Given the description of an element on the screen output the (x, y) to click on. 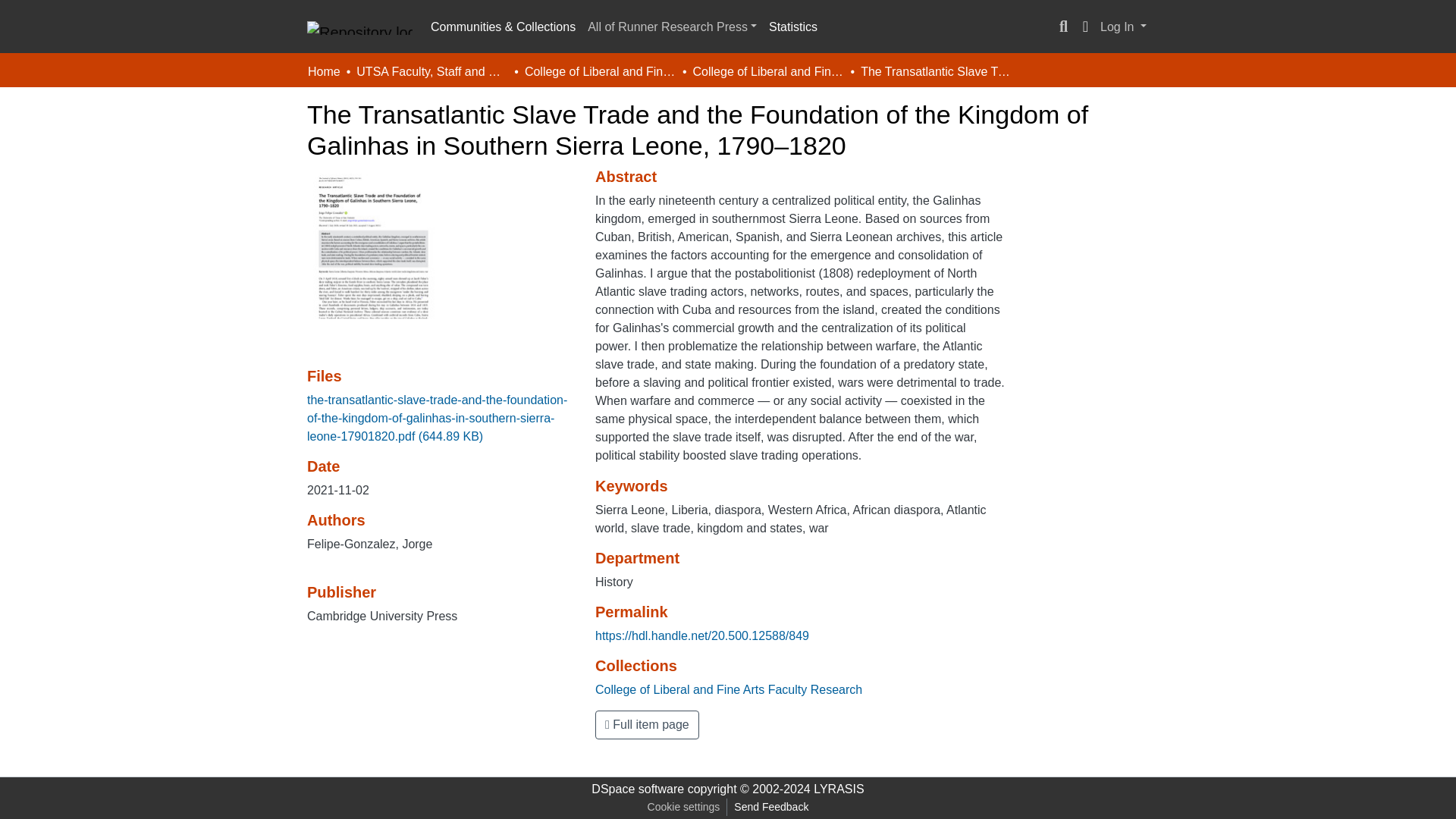
Cookie settings (683, 806)
UTSA Faculty, Staff and Postdoctoral Researcher Work (432, 72)
Log In (1122, 26)
College of Liberal and Fine Arts Faculty Research (768, 72)
College of Liberal and Fine Arts Faculty Research (728, 689)
Send Feedback (770, 806)
DSpace software (637, 788)
All of Runner Research Press (671, 27)
Full item page (646, 724)
Search (1063, 27)
